Given the description of an element on the screen output the (x, y) to click on. 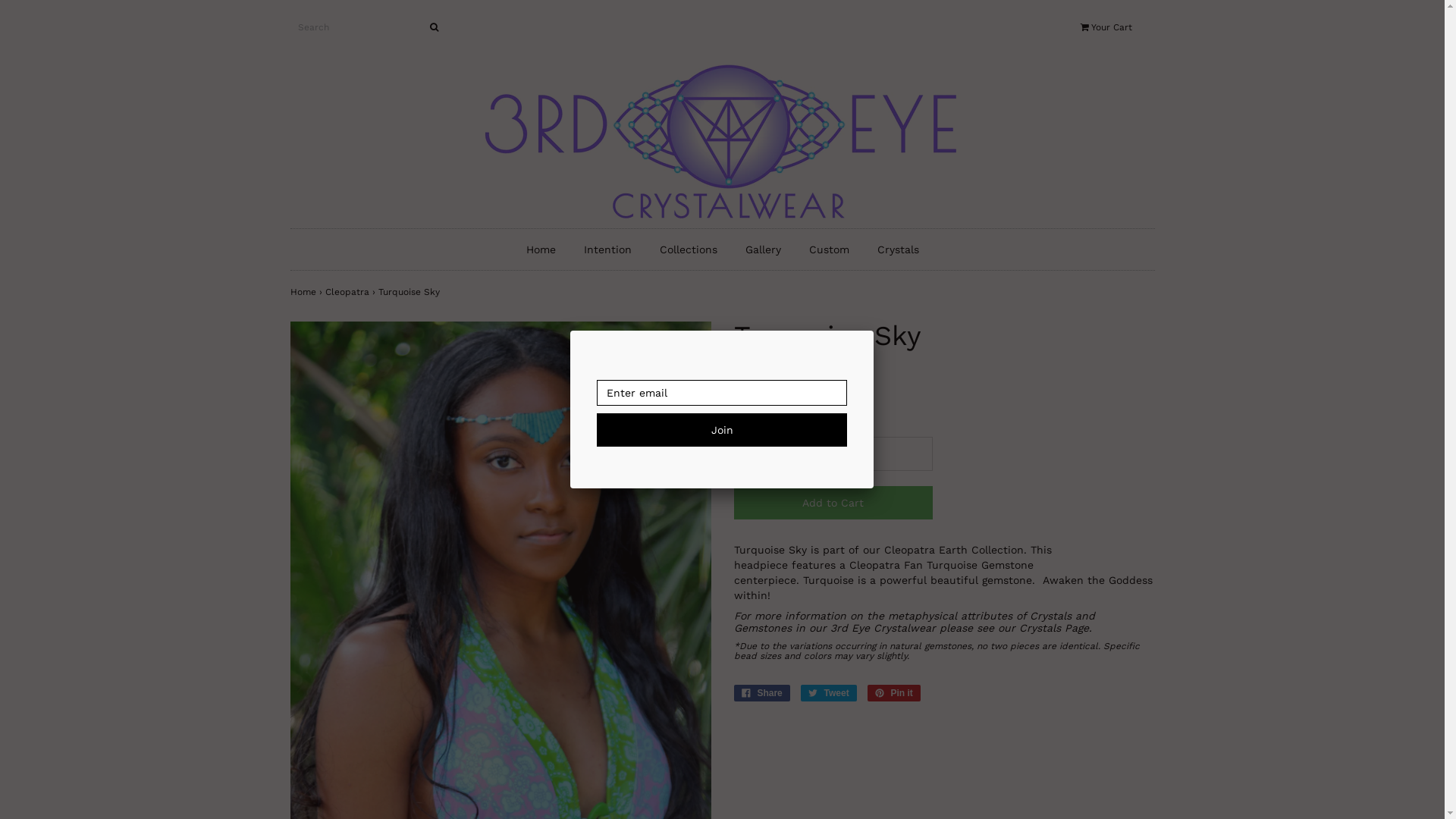
Close Element type: hover (873, 330)
Crystals Page. Element type: text (1055, 627)
Home Element type: hover (721, 138)
Gallery Element type: text (763, 249)
Share Element type: text (762, 692)
Pin it Element type: text (893, 692)
Add to Cart Element type: text (833, 502)
Intention Element type: text (606, 249)
Collections Element type: text (687, 249)
Tweet Element type: text (828, 692)
Cleopatra Element type: text (346, 291)
Custom Element type: text (828, 249)
Home Element type: text (540, 249)
Crystals Element type: text (898, 249)
Join Element type: text (721, 429)
Home Element type: text (302, 291)
Your Cart Element type: text (1116, 26)
